Given the description of an element on the screen output the (x, y) to click on. 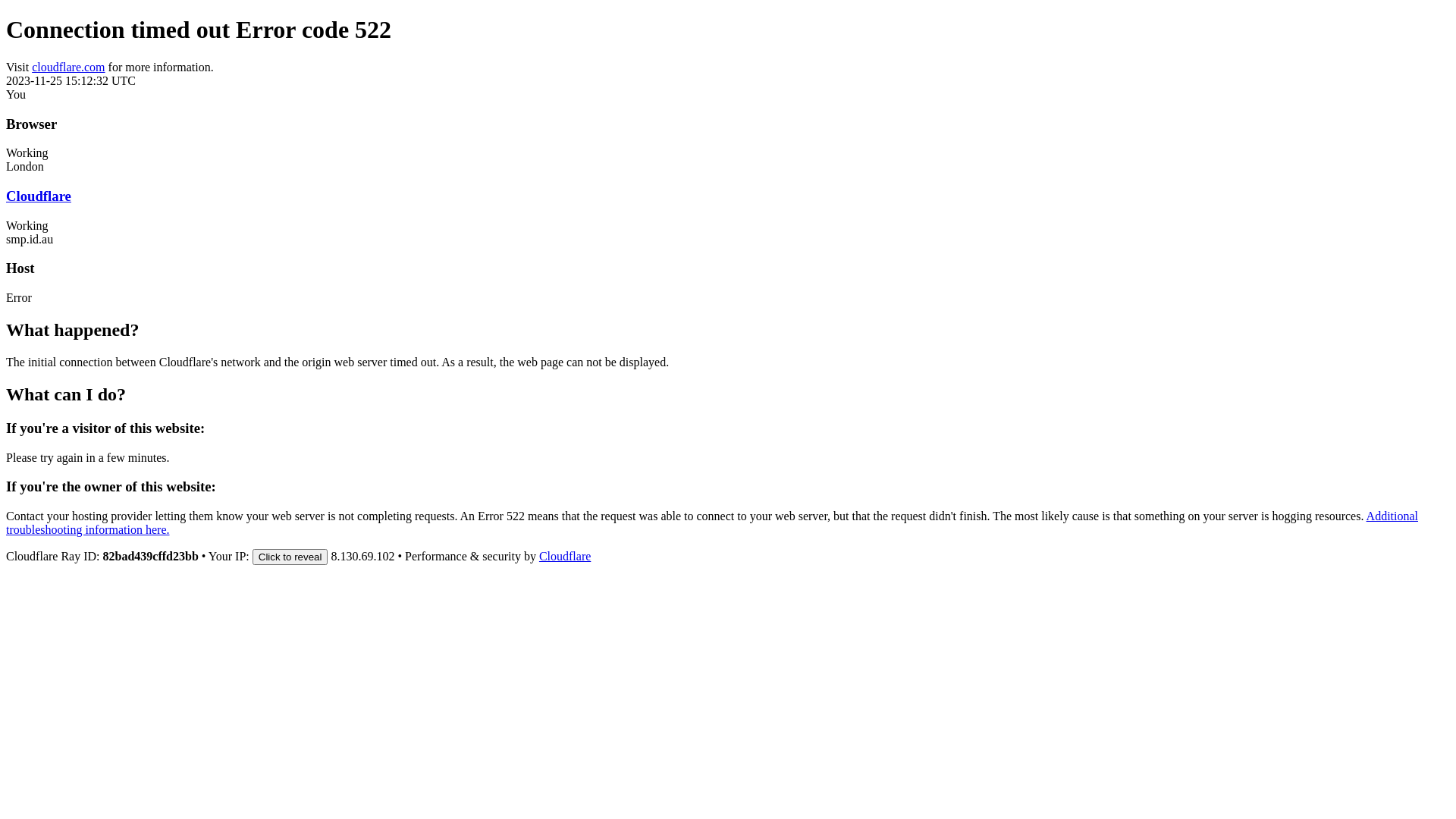
Click to reveal Element type: text (290, 556)
Additional troubleshooting information here. Element type: text (712, 522)
Cloudflare Element type: text (38, 195)
cloudflare.com Element type: text (67, 66)
Cloudflare Element type: text (564, 555)
